Given the description of an element on the screen output the (x, y) to click on. 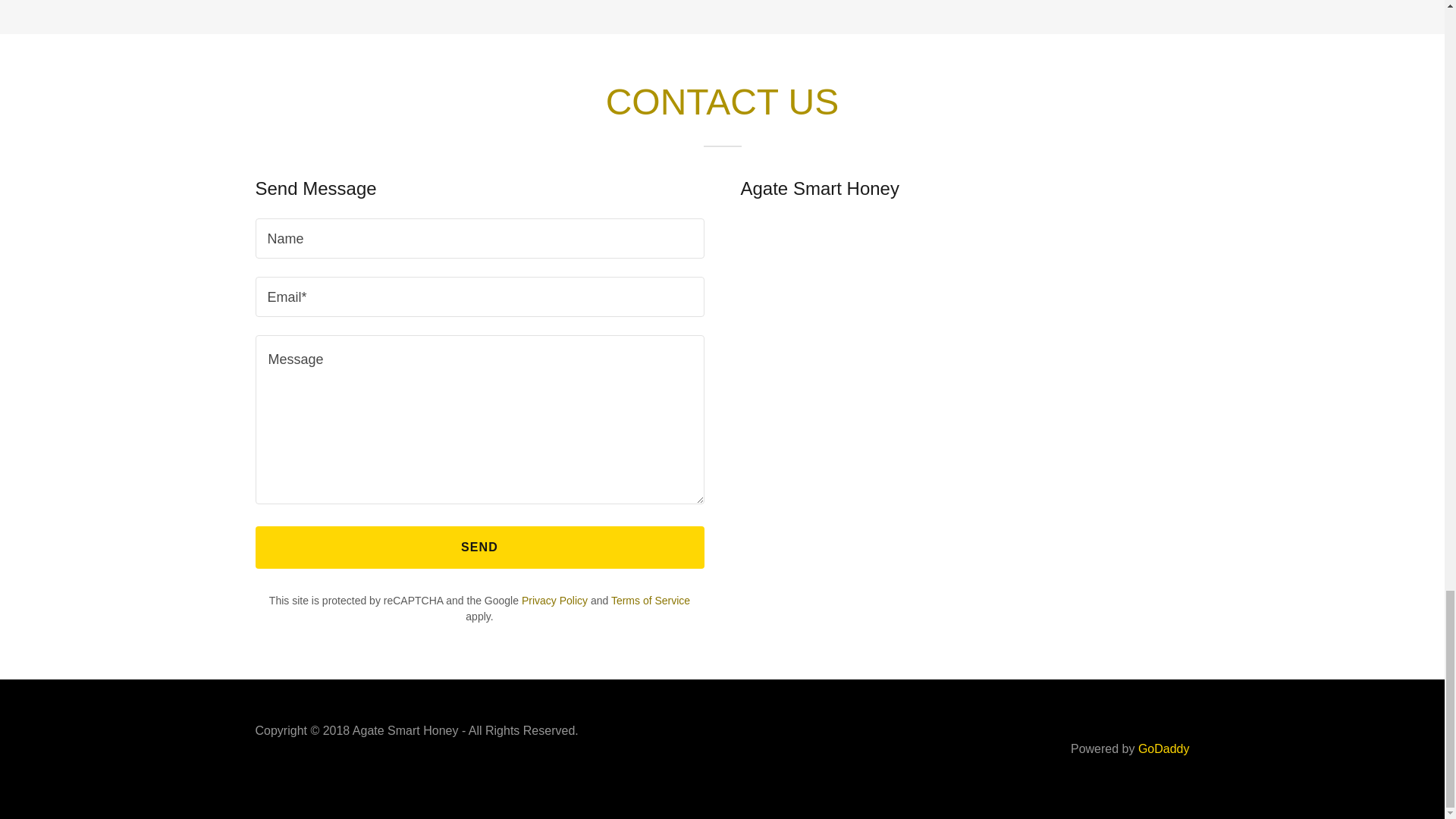
GoDaddy (1163, 748)
Privacy Policy (554, 600)
Terms of Service (650, 600)
SEND (478, 547)
